Given the description of an element on the screen output the (x, y) to click on. 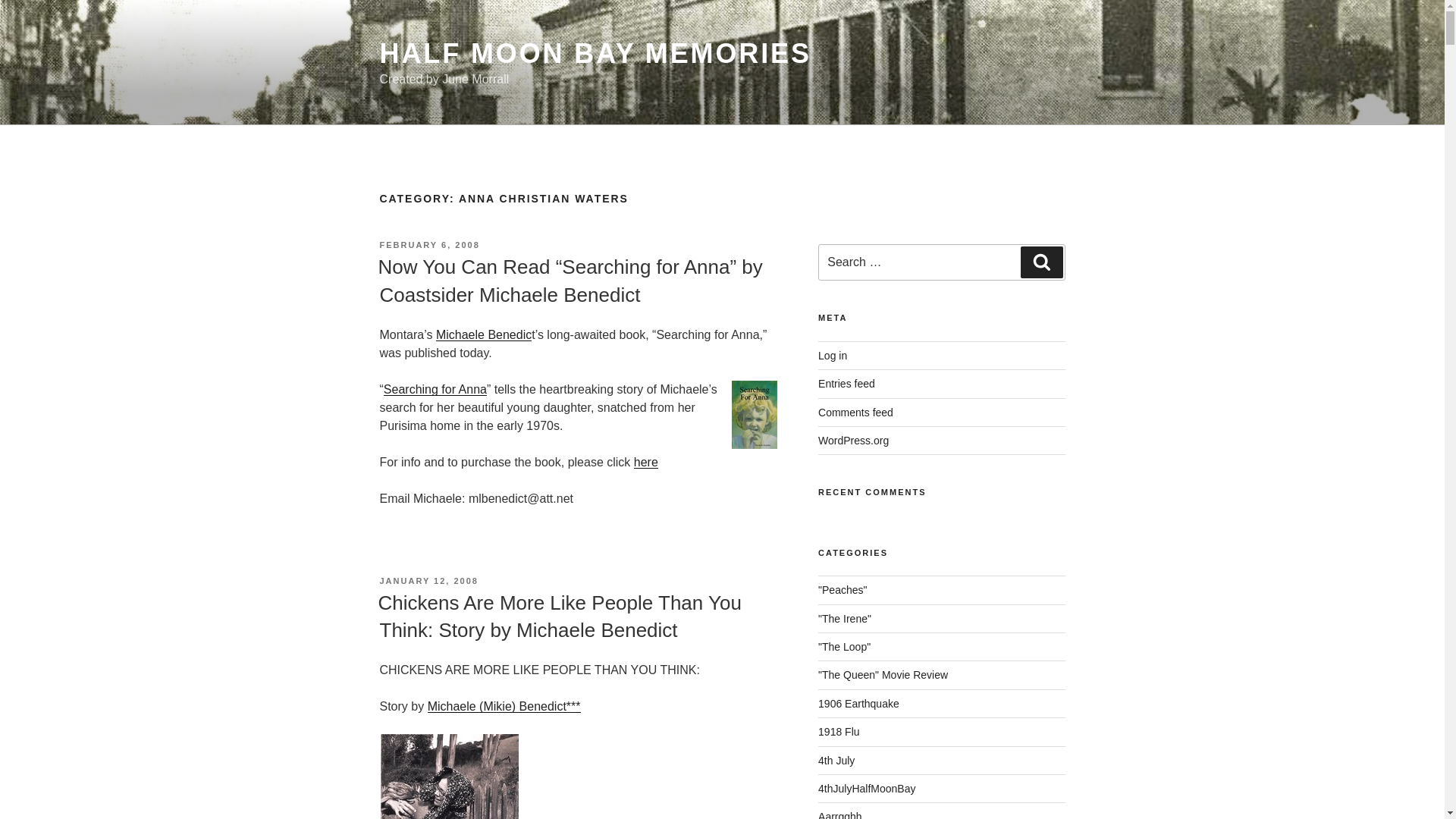
JANUARY 12, 2008 (427, 580)
HALF MOON BAY MEMORIES (594, 52)
Searching for Anna (435, 389)
FEBRUARY 6, 2008 (428, 244)
here (645, 461)
Michaele Benedic (483, 334)
